Given the description of an element on the screen output the (x, y) to click on. 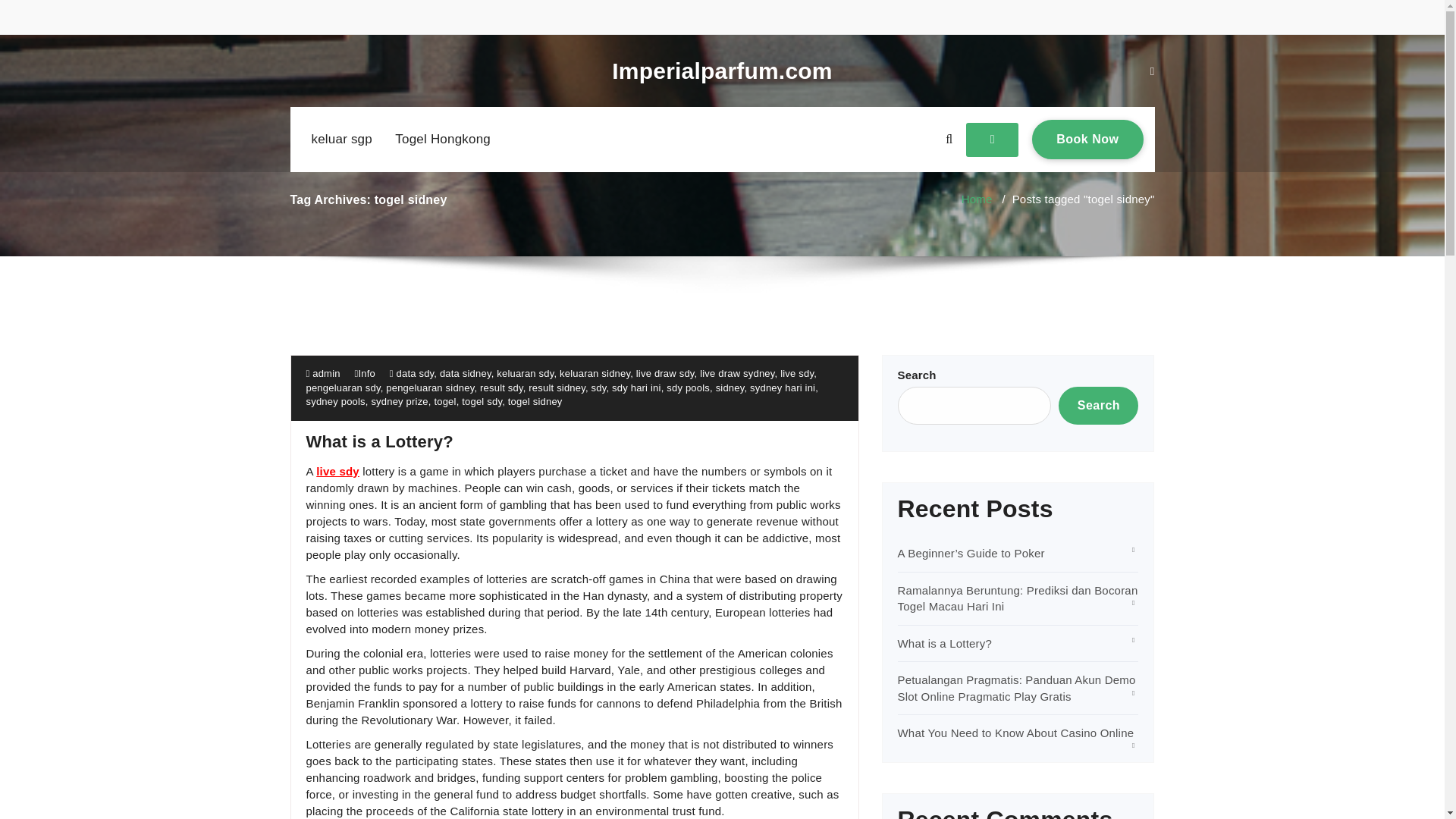
keluaran sdy (1087, 138)
sdy hari ini (524, 373)
result sdy (636, 387)
sydney prize (501, 387)
Home (399, 401)
Togel Hongkong (976, 198)
pengeluaran sidney (442, 139)
result sidney (429, 387)
data sidney (556, 387)
